Given the description of an element on the screen output the (x, y) to click on. 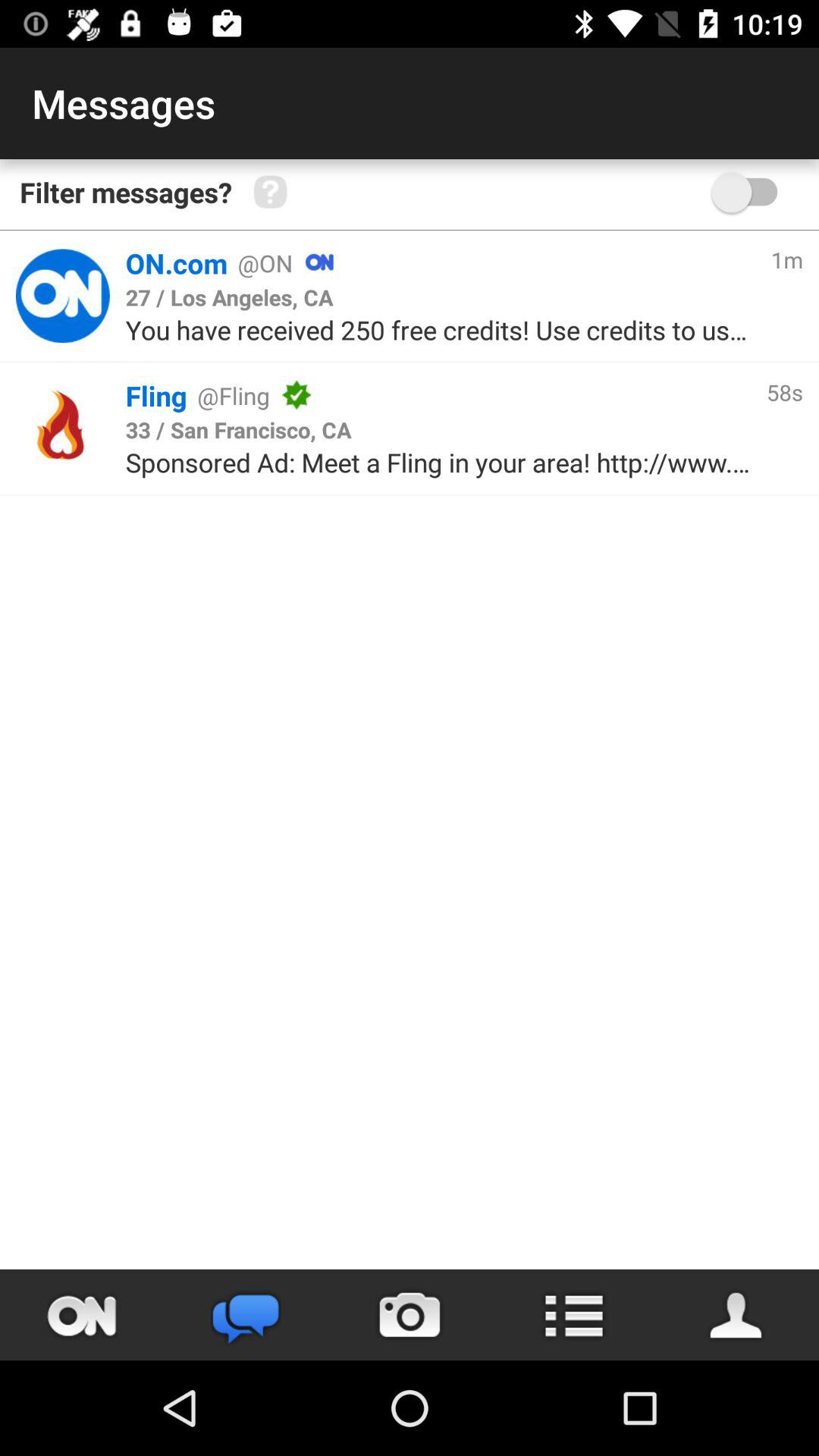
open you have received icon (440, 329)
